Given the description of an element on the screen output the (x, y) to click on. 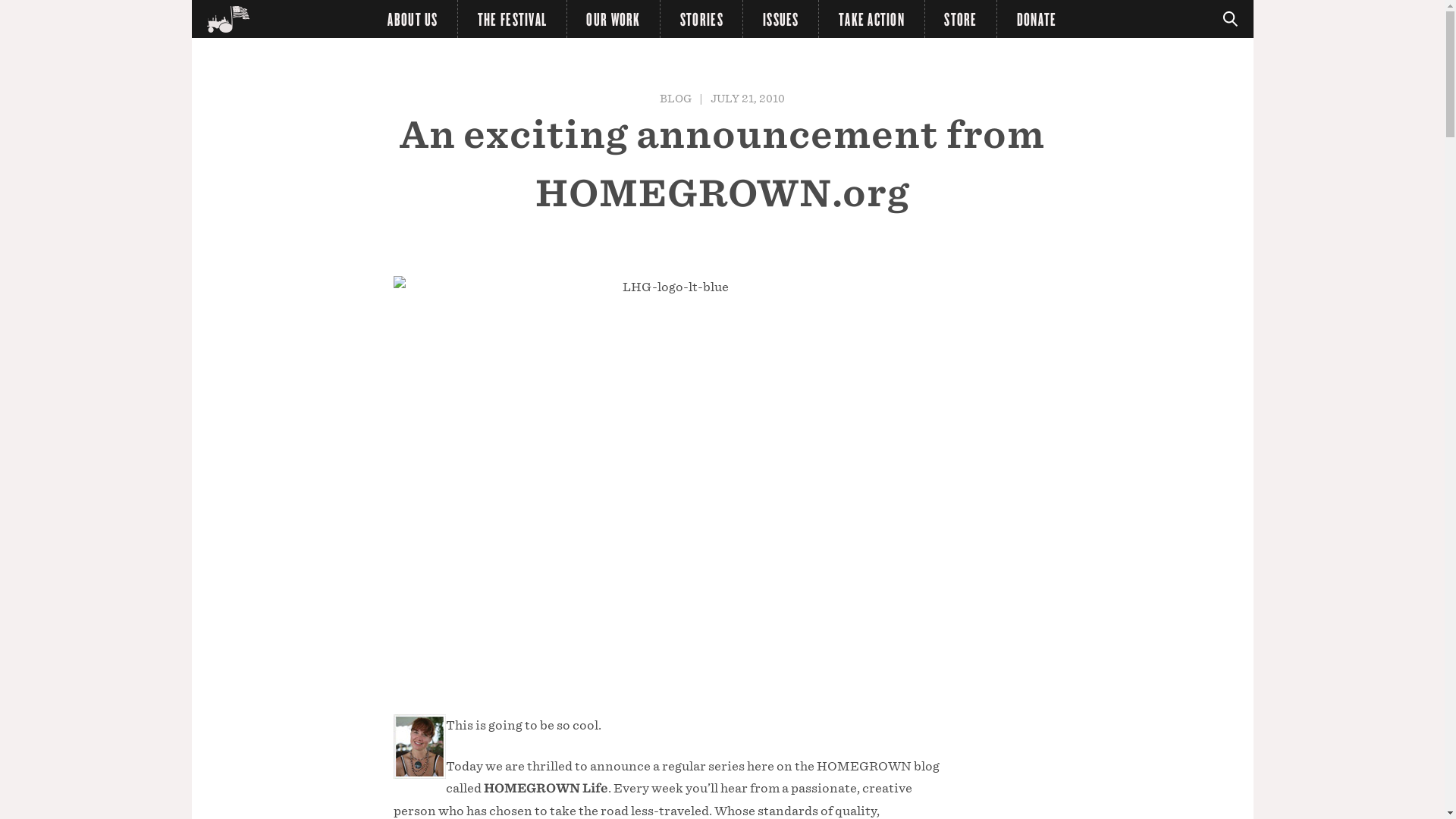
THE FESTIVAL (512, 18)
STORE (960, 18)
TAKE ACTION (871, 18)
DONATE (1036, 18)
BLOG (675, 97)
OUR WORK (614, 18)
ABOUT US (413, 18)
ISSUES (780, 18)
STORIES (701, 18)
Submit (21, 7)
